Given the description of an element on the screen output the (x, y) to click on. 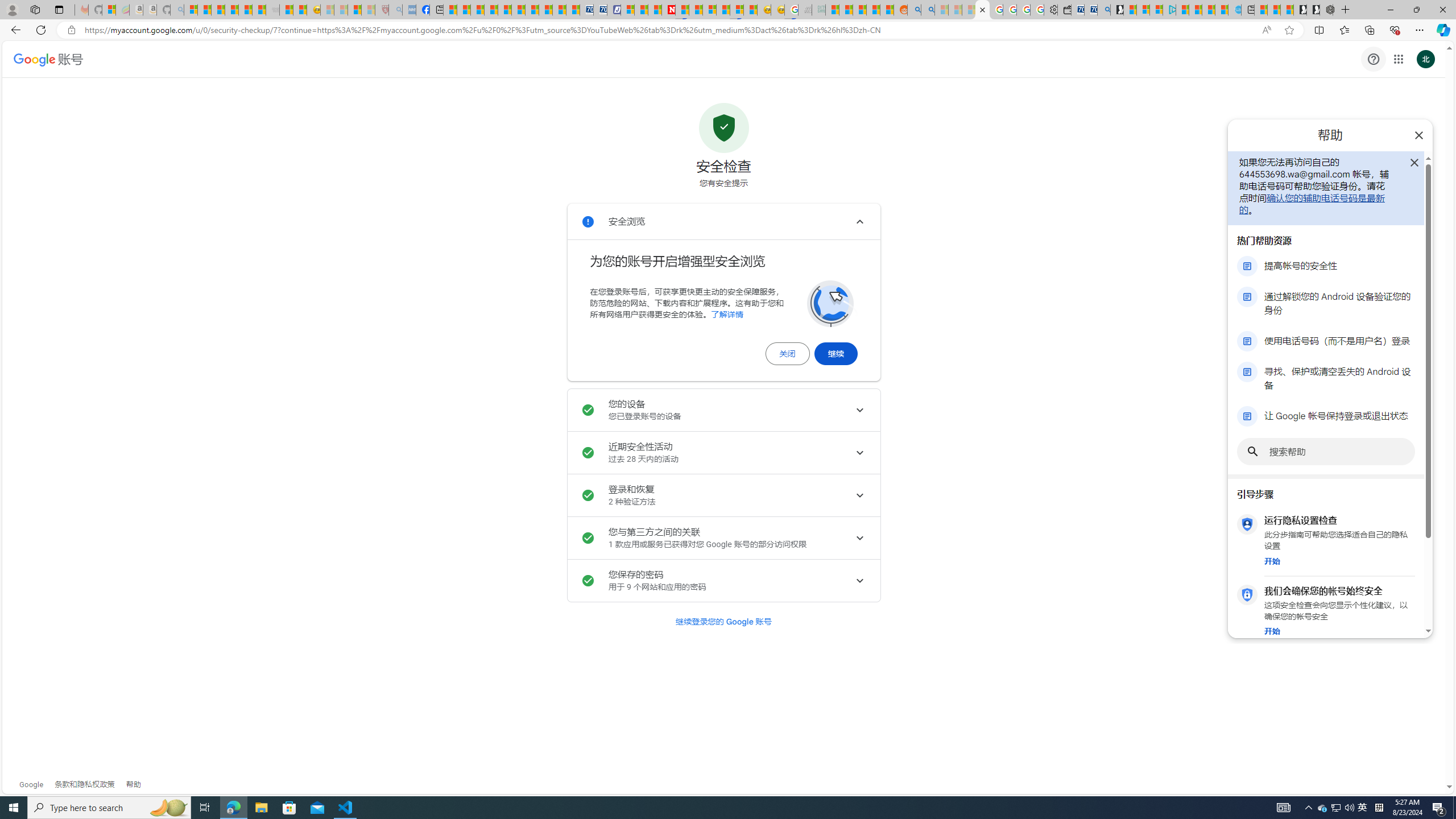
App bar (728, 29)
Navy Quest (804, 9)
12 Popular Science Lies that Must be Corrected - Sleeping (368, 9)
Recipes - MSN - Sleeping (327, 9)
